Given the description of an element on the screen output the (x, y) to click on. 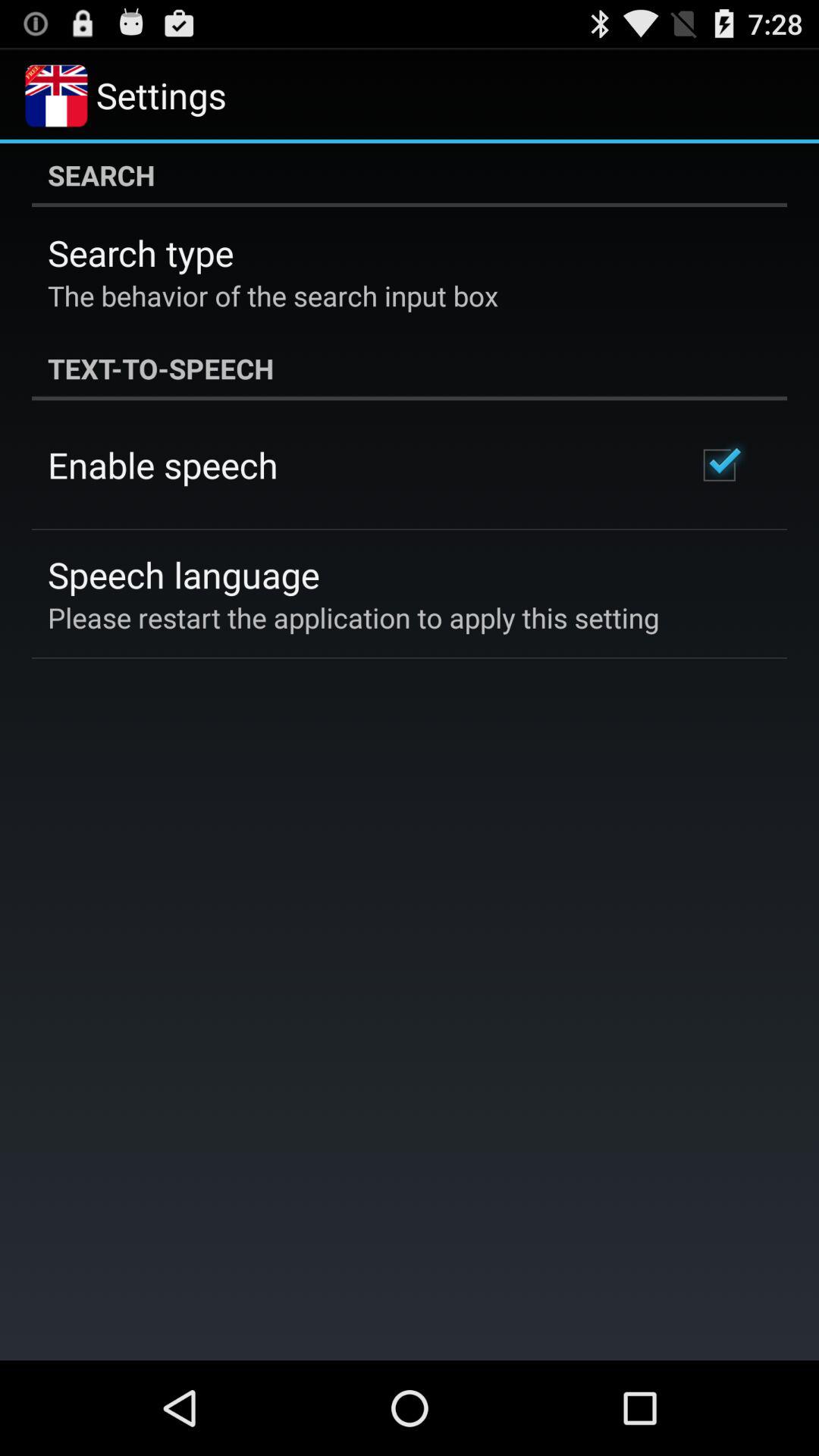
choose the icon above the please restart the item (183, 574)
